Given the description of an element on the screen output the (x, y) to click on. 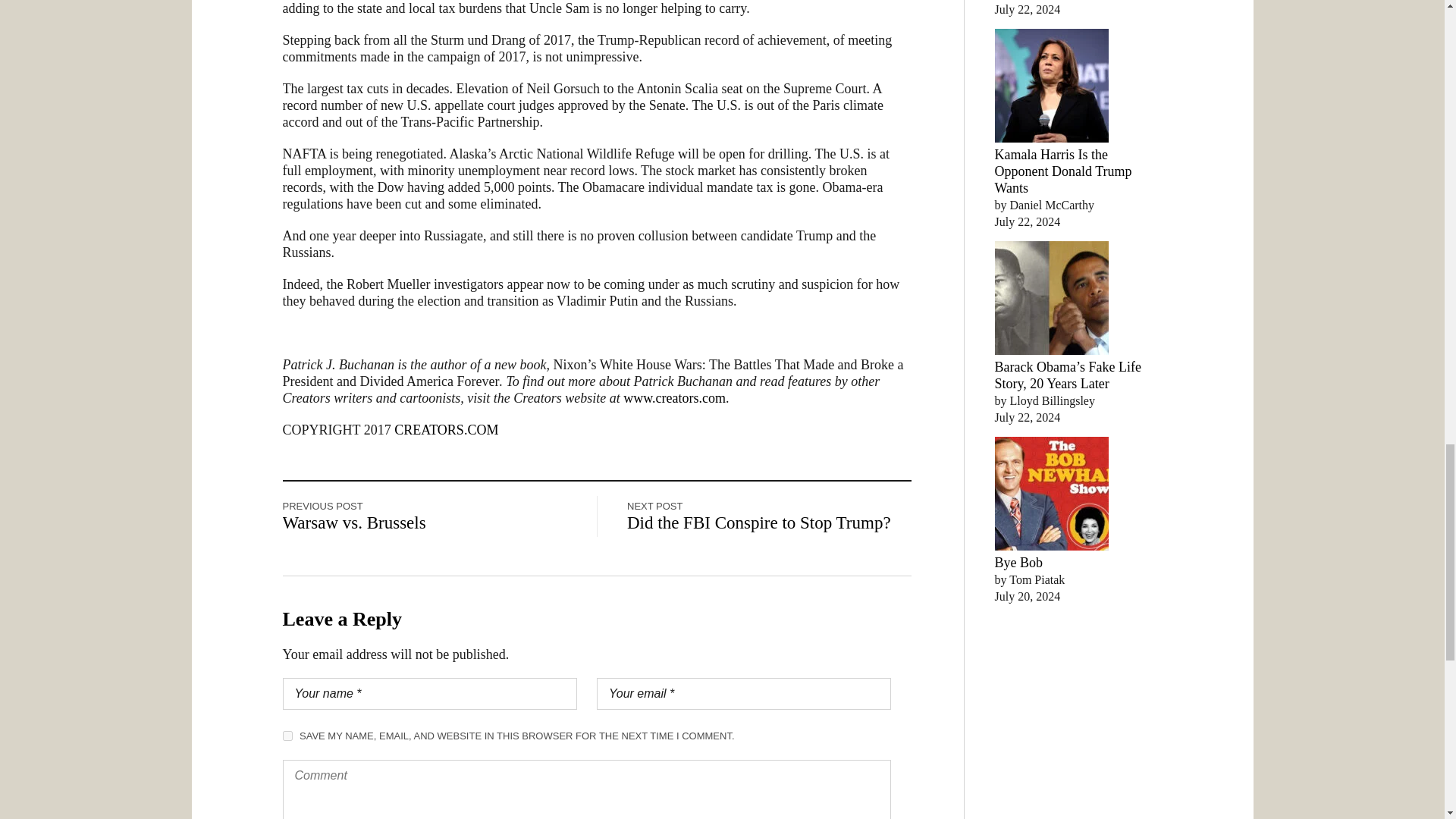
Bye Bob (1018, 562)
CREATORS.COM (445, 429)
Kamala Harris Is the Opponent Donald Trump Wants (1063, 171)
Did the FBI Conspire to Stop Trump? (759, 523)
www.creators.com (674, 397)
Warsaw vs. Brussels (353, 523)
yes (287, 736)
